Given the description of an element on the screen output the (x, y) to click on. 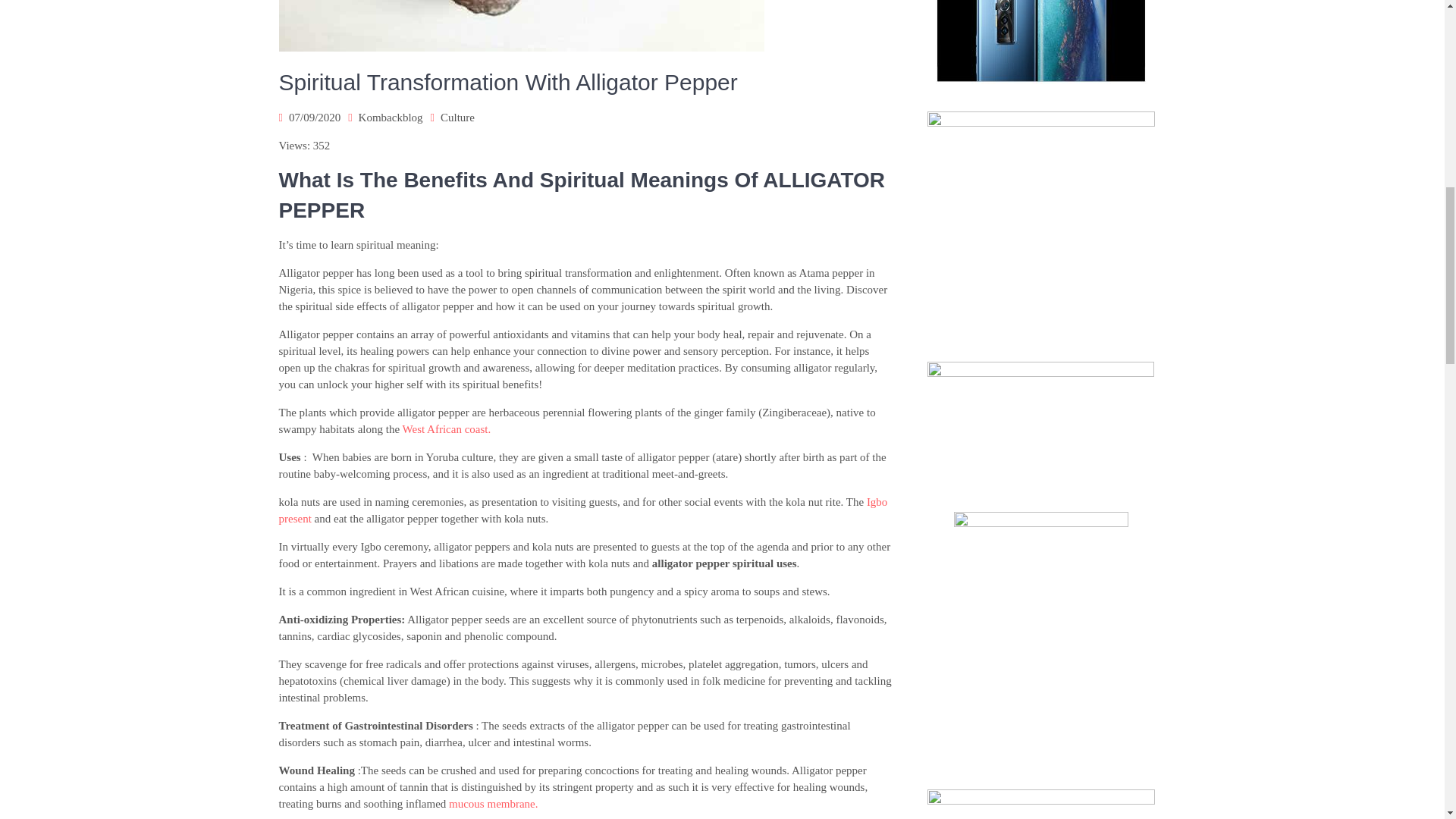
Culture (457, 117)
West African coast. (447, 428)
Kombackblog (390, 117)
Igbo present (583, 510)
mucous membrane. (492, 803)
